Given the description of an element on the screen output the (x, y) to click on. 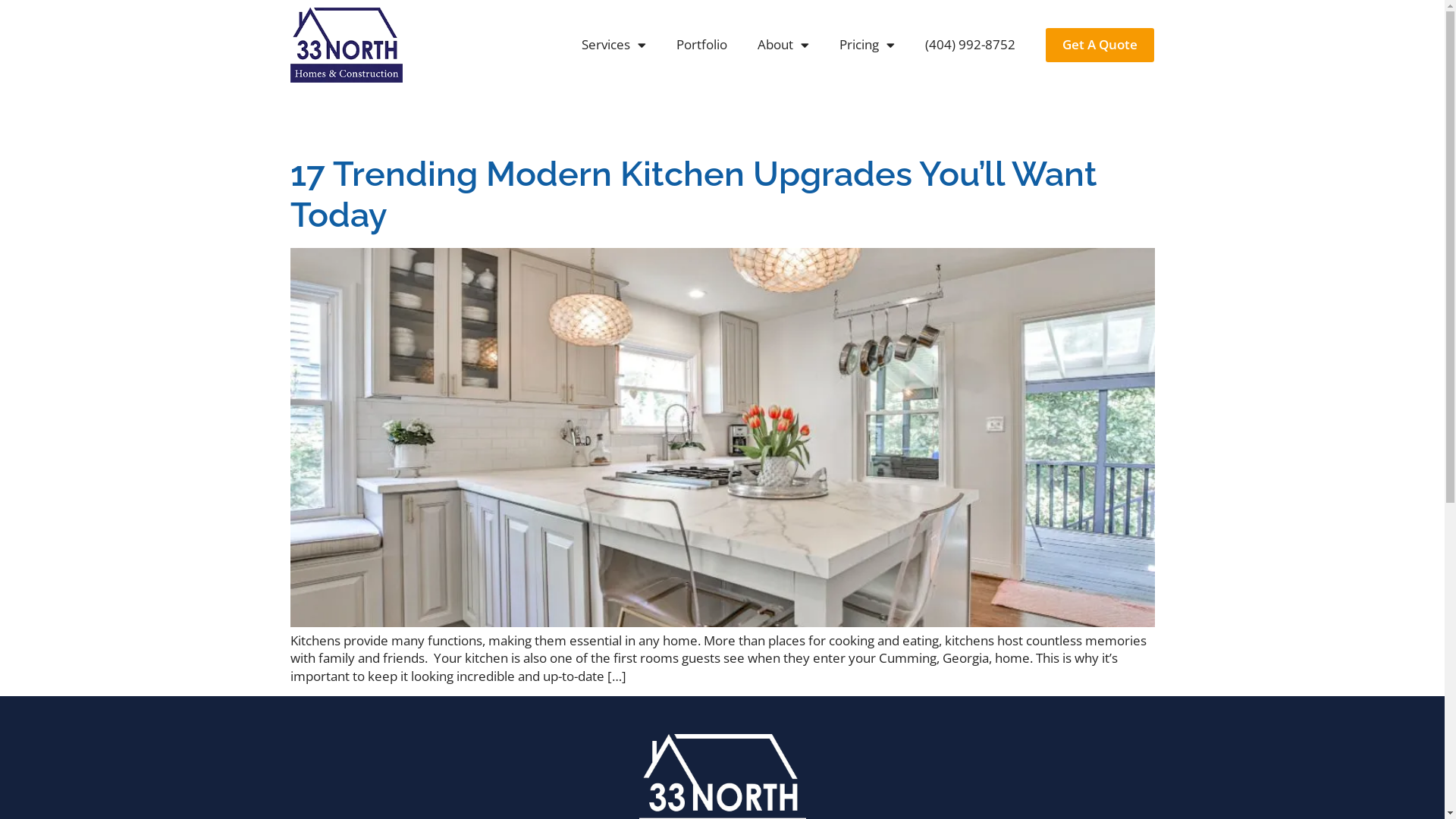
Services Element type: text (613, 44)
(404) 992-8752 Element type: text (970, 44)
Pricing Element type: text (867, 44)
Portfolio Element type: text (701, 44)
About Element type: text (783, 44)
Get A Quote Element type: text (1099, 44)
